Given the description of an element on the screen output the (x, y) to click on. 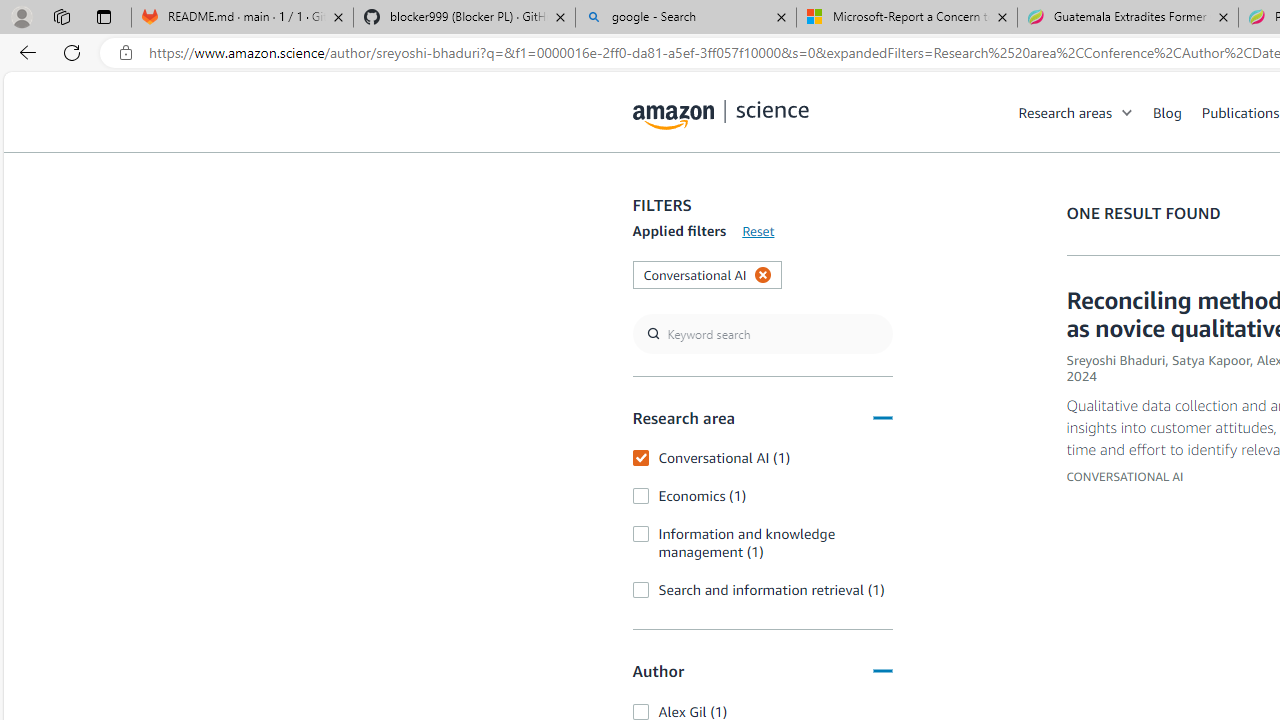
home page (721, 110)
search (762, 333)
Reset (758, 231)
